Given the description of an element on the screen output the (x, y) to click on. 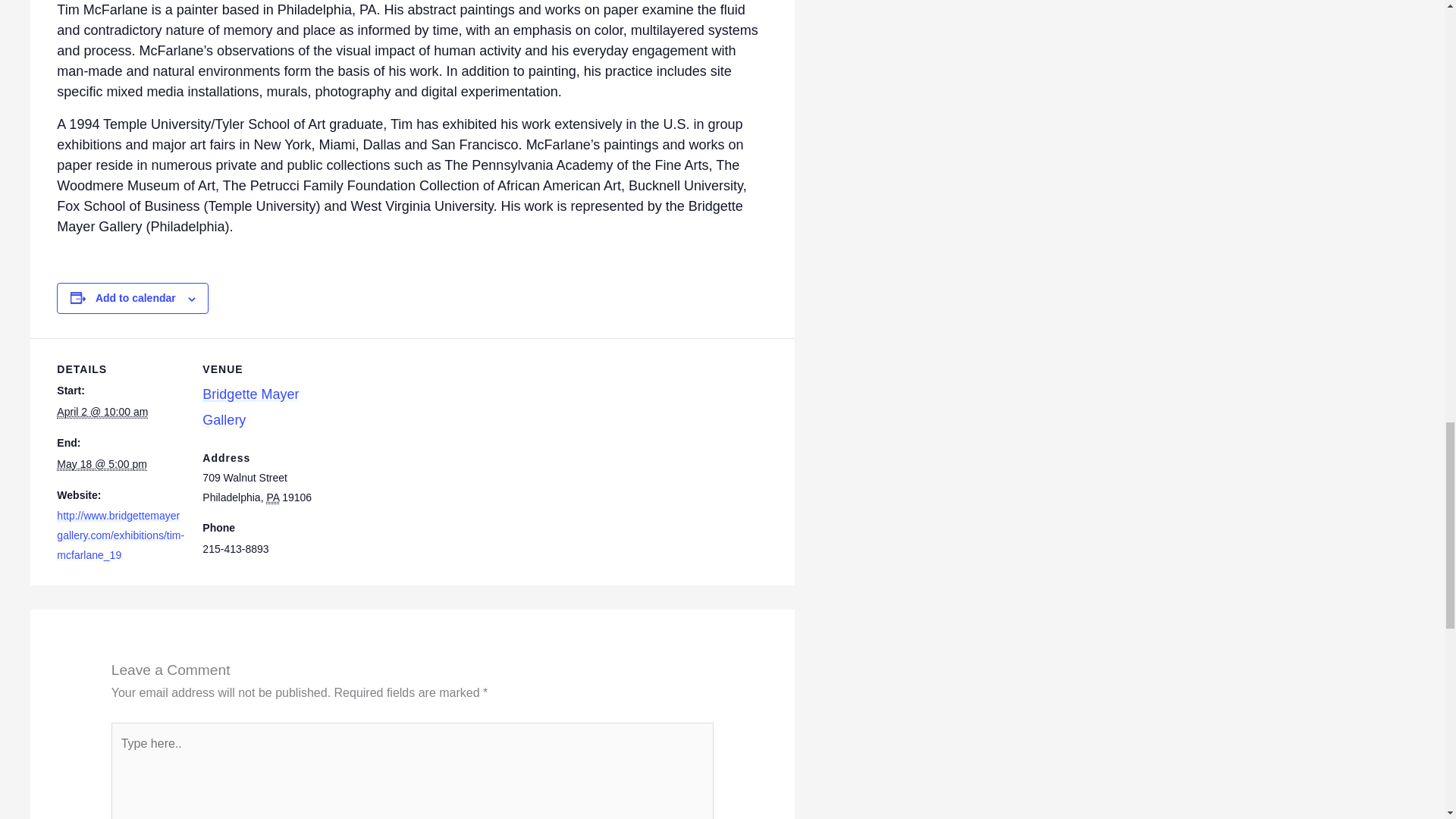
Add to calendar (136, 297)
Bridgette Mayer Gallery (250, 406)
2024-04-02 (102, 411)
2024-05-18 (101, 463)
